Given the description of an element on the screen output the (x, y) to click on. 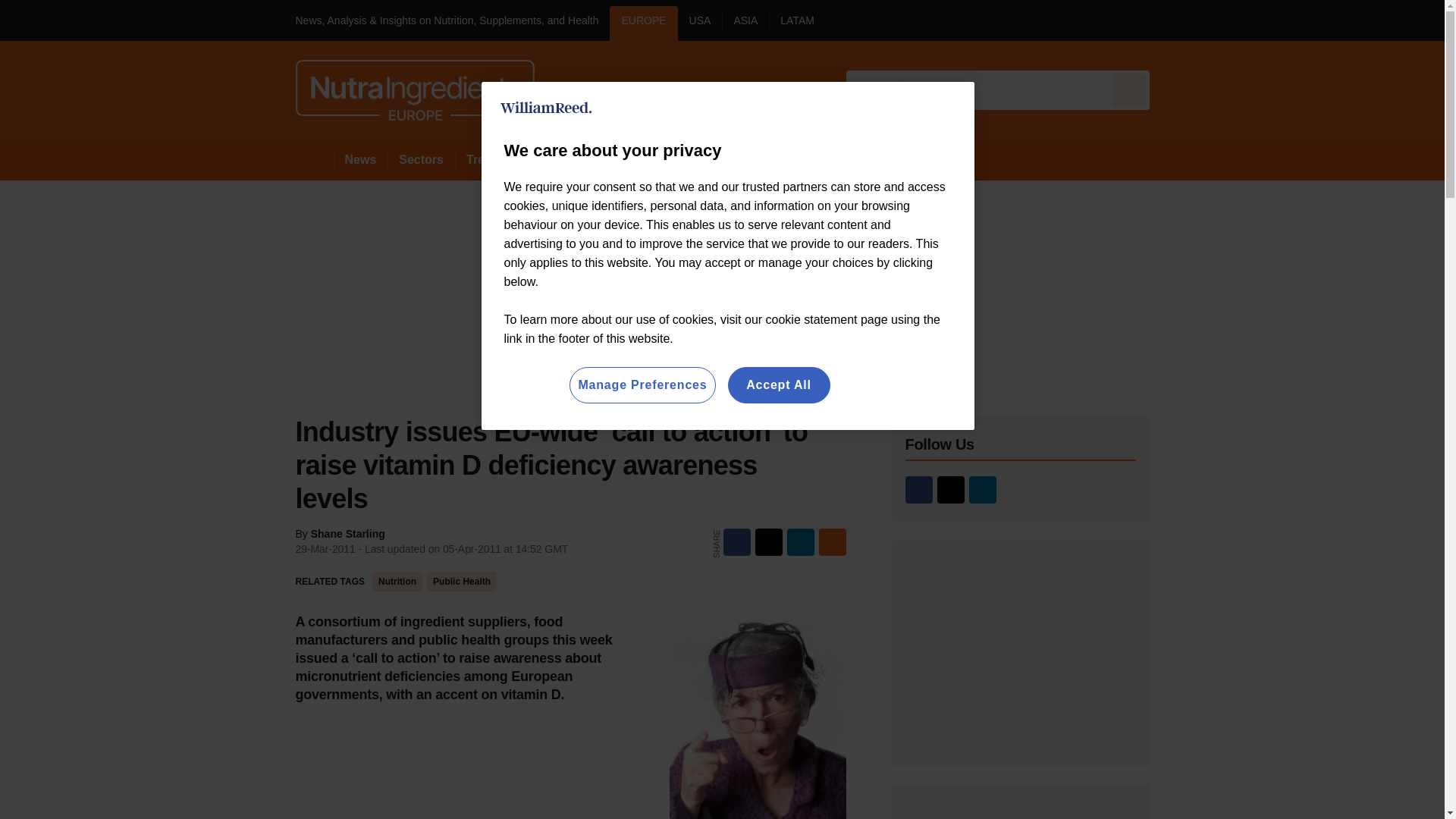
EUROPE (643, 22)
William Reed (545, 107)
ASIA (745, 22)
NutraIngredients Europe (414, 89)
My account (1256, 20)
News (360, 159)
Sign in (1171, 20)
SUBSCRIBE (1362, 20)
Send (1129, 89)
Register (1231, 20)
SUBSCRIBE (1318, 20)
Sign out (1174, 20)
3rd party ad content (1020, 810)
Sectors (420, 159)
Send (1129, 90)
